Given the description of an element on the screen output the (x, y) to click on. 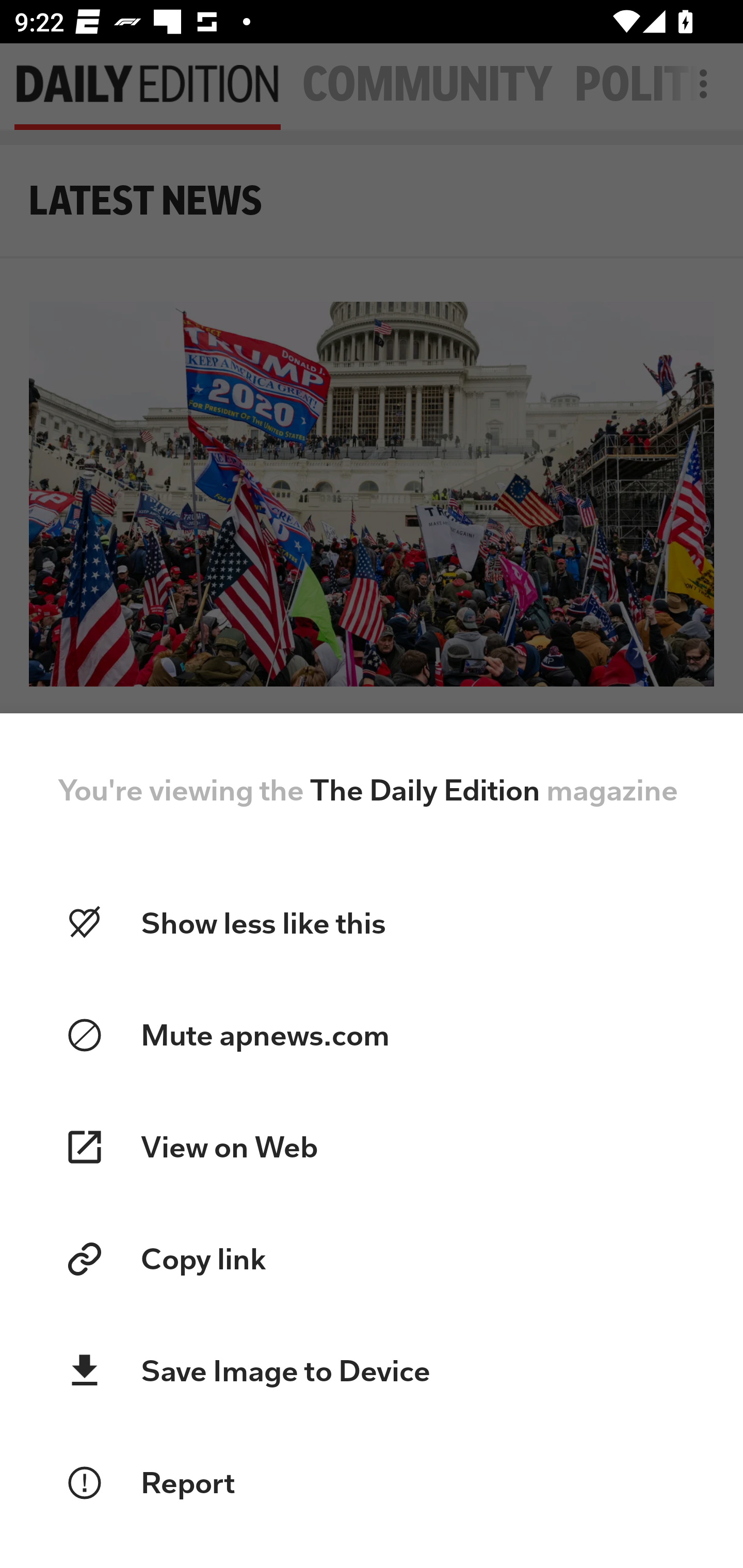
Show less like this (371, 923)
Mute apnews.com (371, 1035)
View on Web (371, 1146)
Copy link (371, 1258)
Save Image to Device (371, 1370)
Report (371, 1482)
